Given the description of an element on the screen output the (x, y) to click on. 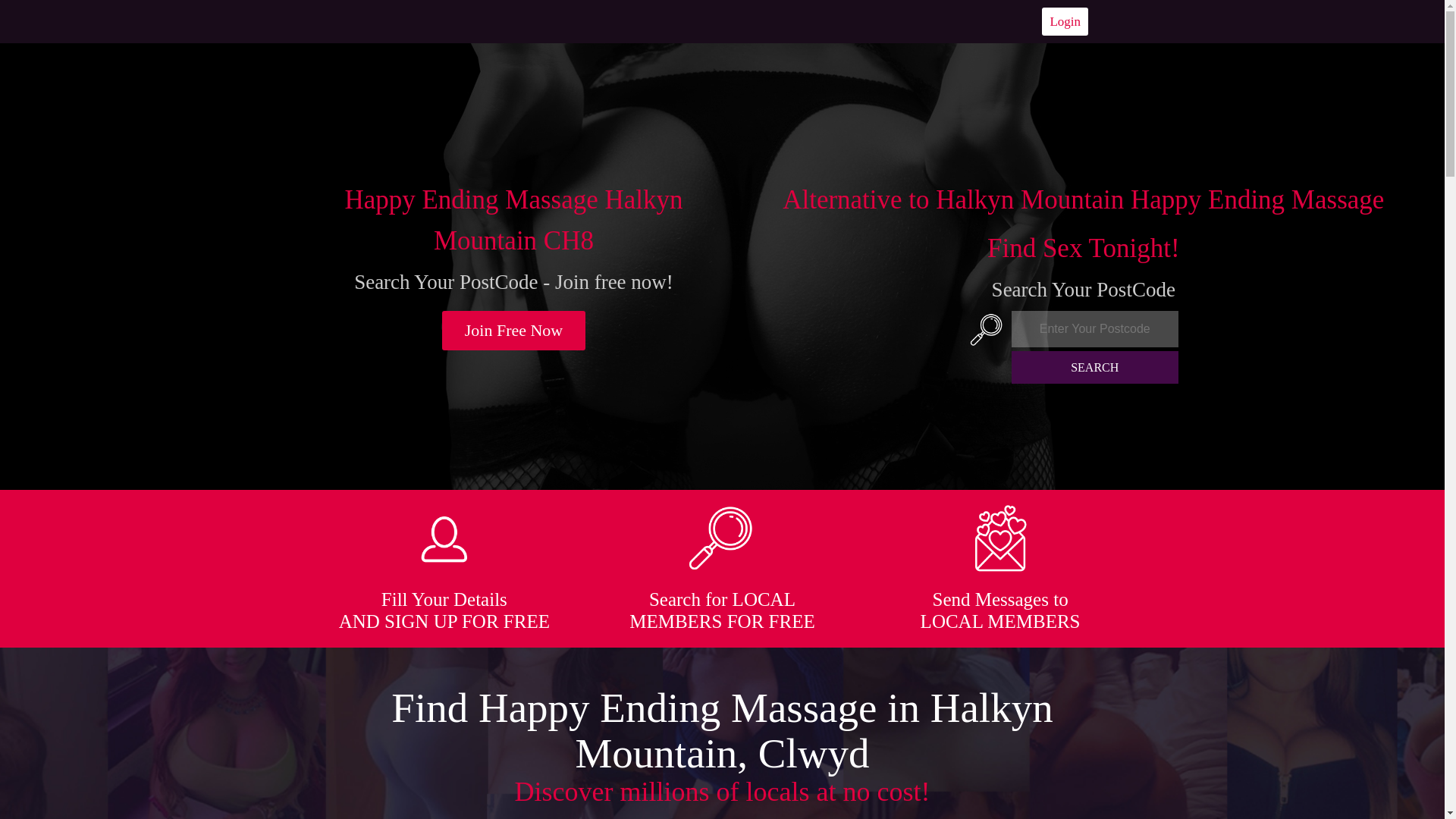
SEARCH (1094, 367)
Login (1064, 21)
Join Free Now (514, 330)
Login (1064, 21)
Join (514, 330)
